Given the description of an element on the screen output the (x, y) to click on. 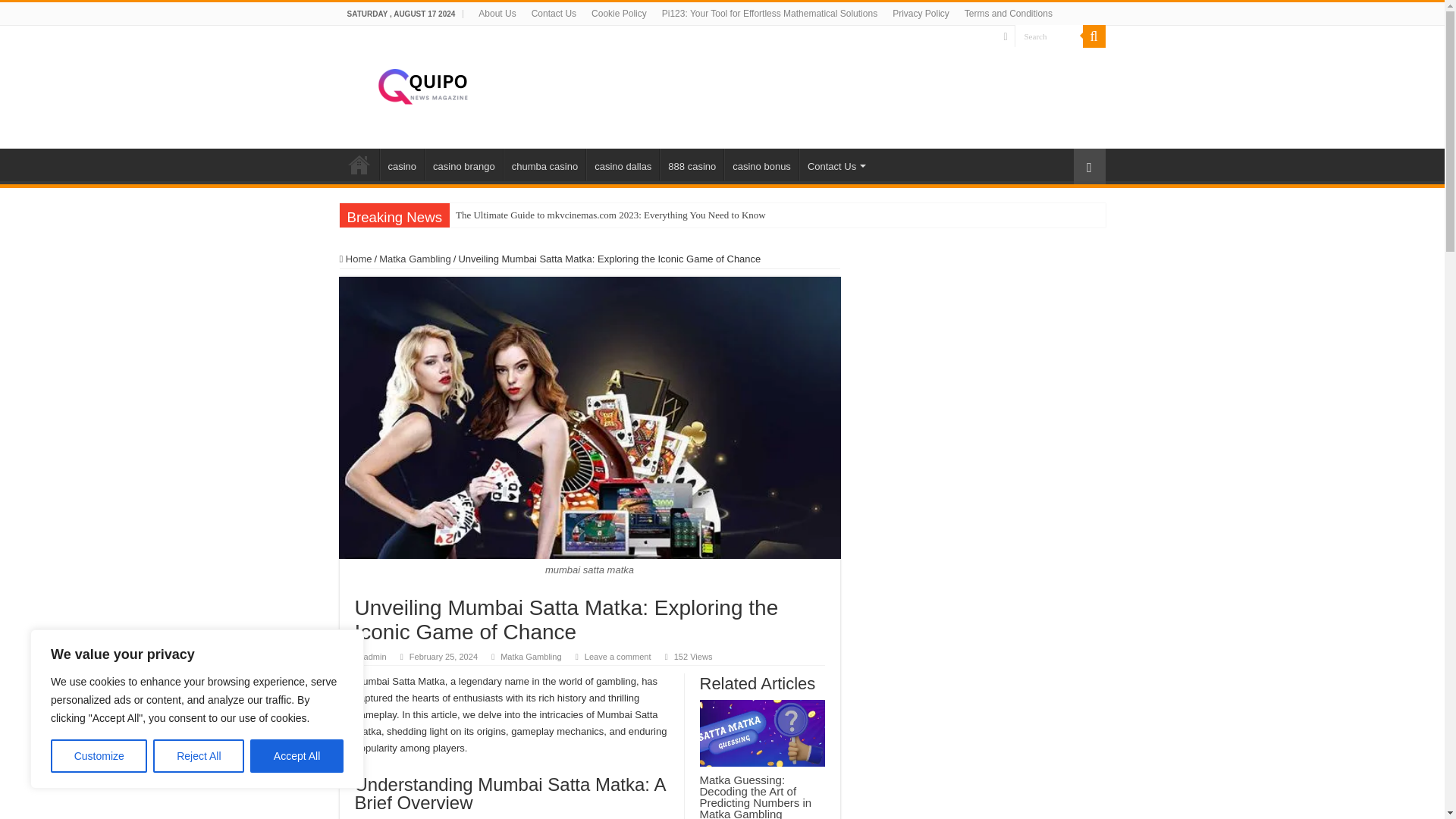
Accept All (296, 756)
casino brango (463, 164)
Search (1048, 35)
Search (1048, 35)
Reject All (198, 756)
Terms and Conditions (1007, 13)
Cookie Policy (618, 13)
Pi123: Your Tool for Effortless Mathematical Solutions (769, 13)
Home (358, 164)
Privacy Policy (920, 13)
